Given the description of an element on the screen output the (x, y) to click on. 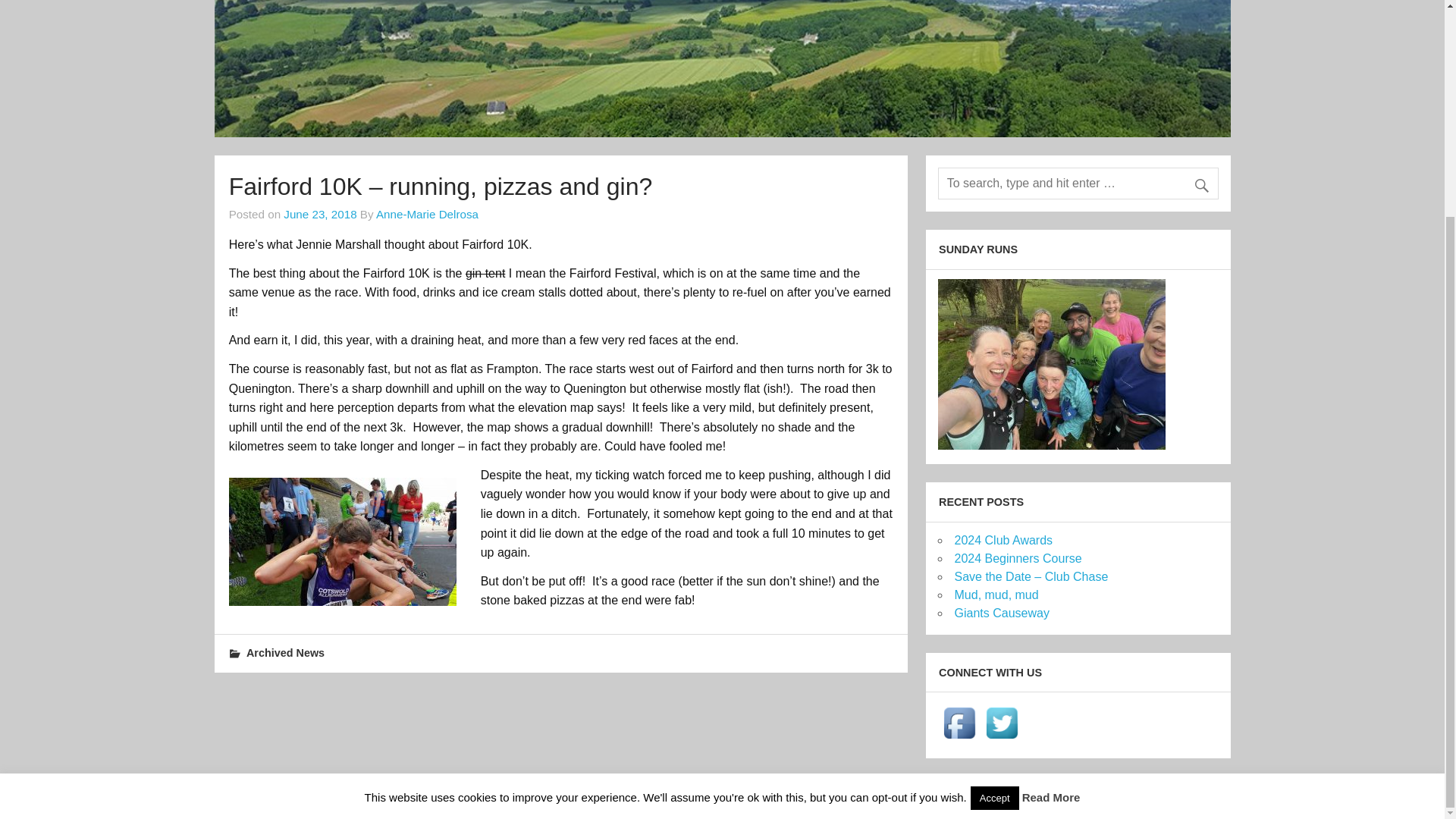
5:32 pm (319, 214)
June 23, 2018 (319, 214)
Visit Us On Twitter (1000, 739)
Visit Us On Facebook (958, 739)
Momentous WordPress Theme (1195, 797)
View all posts by Anne-Marie Delrosa (427, 214)
WordPress (1107, 797)
